Given the description of an element on the screen output the (x, y) to click on. 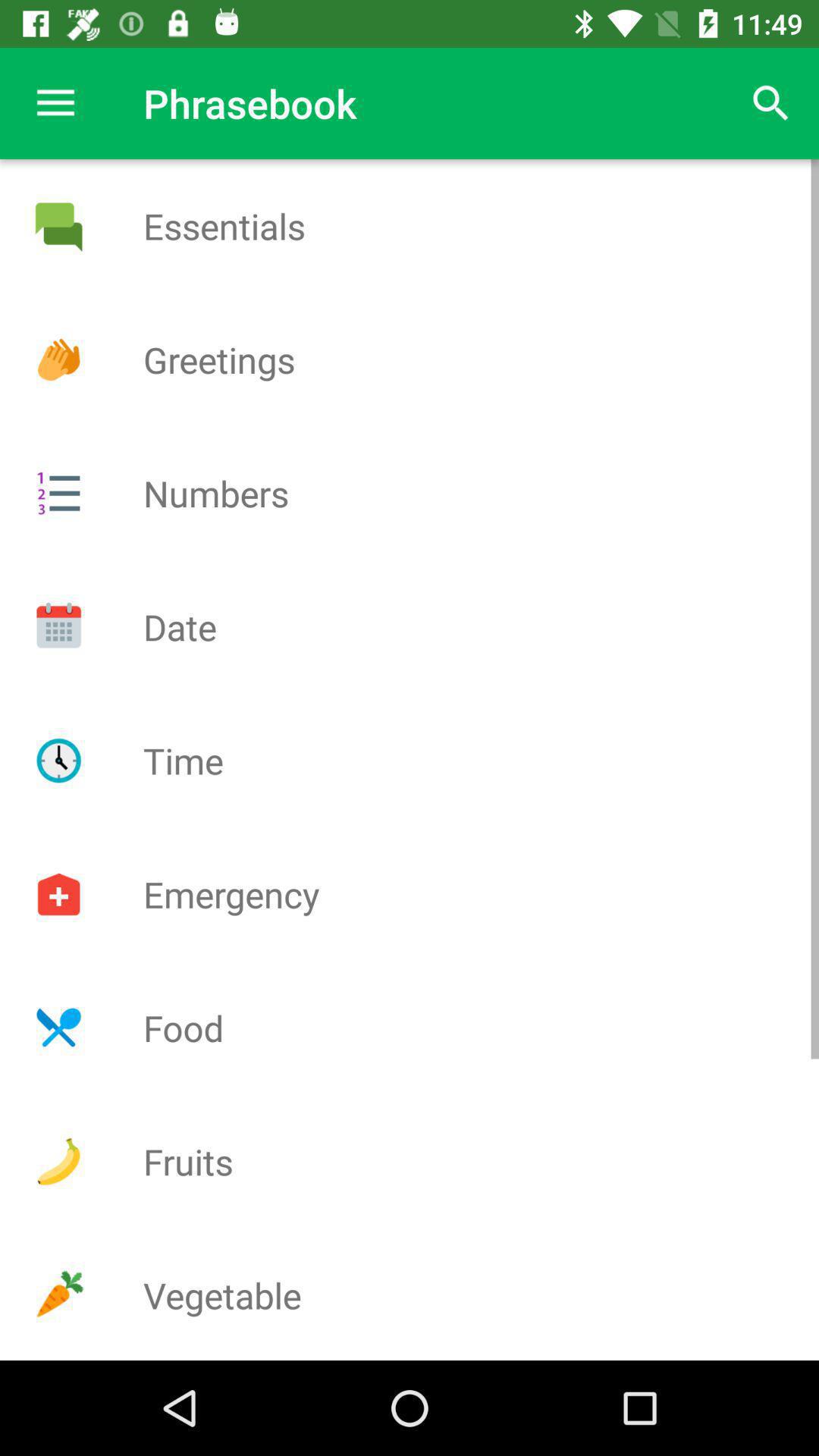
time phrases (58, 760)
